Given the description of an element on the screen output the (x, y) to click on. 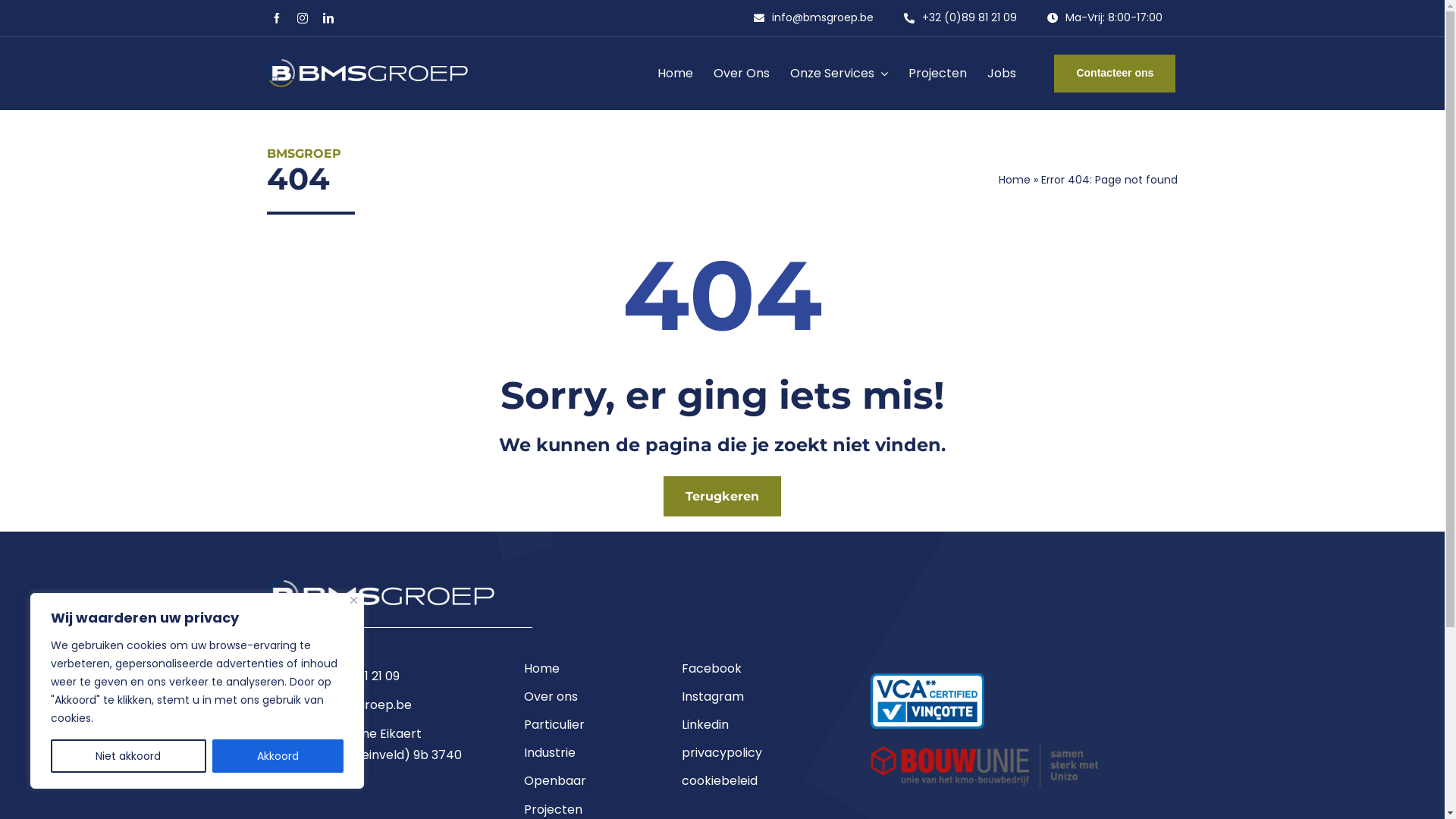
Home Element type: text (578, 672)
Vincotte_Certificatie Element type: hover (927, 701)
Over Ons Element type: text (741, 72)
Industrie Element type: text (578, 756)
privacypolicy Element type: text (751, 756)
Akkoord Element type: text (278, 755)
info@bmsgroep.be Element type: text (813, 18)
Niet akkoord Element type: text (128, 755)
Home Element type: text (675, 72)
cookiebeleid Element type: text (751, 784)
Over ons Element type: text (578, 700)
Linkedin Element type: text (751, 728)
Openbaar Element type: text (578, 784)
Onze Services Element type: text (839, 72)
Contacteer ons Element type: text (1114, 73)
Logo BMSGROEP Element type: hover (380, 595)
Projecten Element type: text (937, 72)
Bouwunie Element type: hover (984, 765)
+32 (0)89 81 21 09 Element type: text (960, 18)
Particulier Element type: text (578, 728)
Jobs Element type: text (1001, 72)
Facebook Element type: text (751, 672)
Terugkeren Element type: text (722, 496)
Ma-Vrij: 8:00-17:00 Element type: text (1104, 18)
Instagram Element type: text (751, 700)
Home Element type: text (1014, 179)
